Given the description of an element on the screen output the (x, y) to click on. 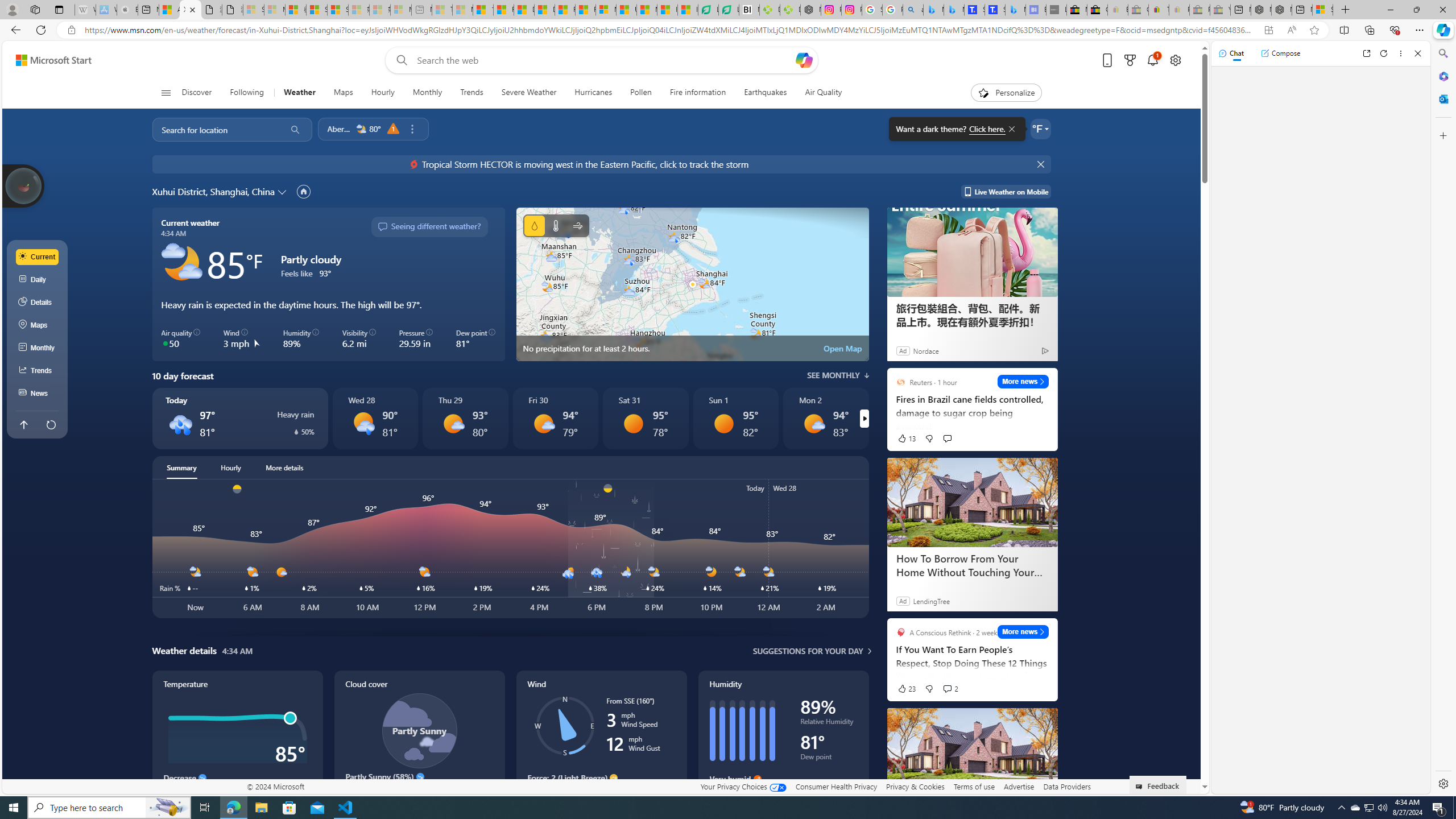
Nordace - Summer Adventures 2024 (1281, 9)
Fire information (697, 92)
Open settings (1175, 60)
Dew point (828, 759)
App available. Install Microsoft Start Weather (1268, 29)
Air Quality (818, 92)
Join us in planting real trees to help our planet! (23, 185)
Sign in to your Microsoft account (1322, 9)
Severe Weather (529, 92)
Marine life - MSN - Sleeping (461, 9)
